Given the description of an element on the screen output the (x, y) to click on. 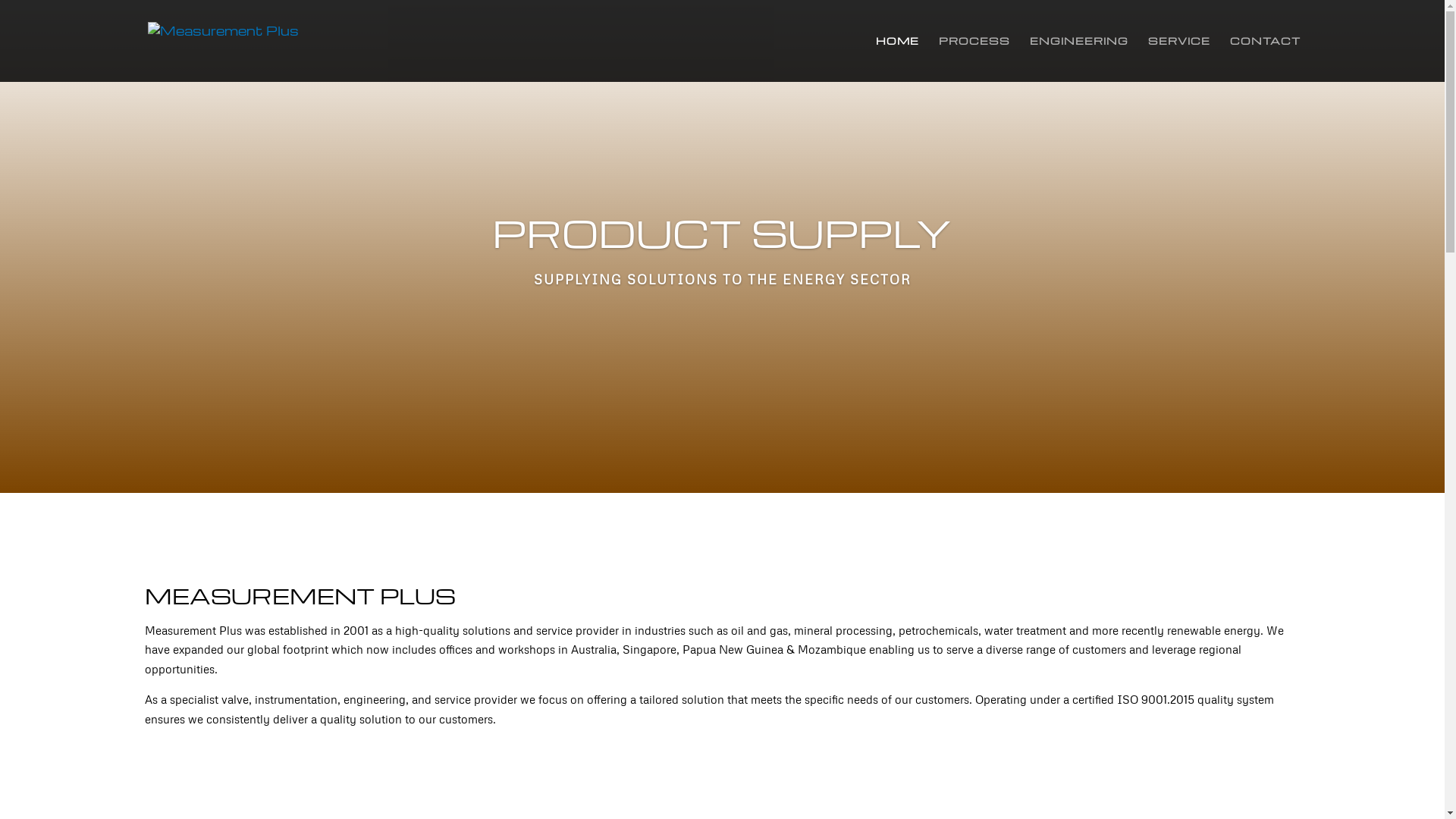
CONTACT Element type: text (1265, 58)
HOME Element type: text (896, 58)
ENGINEERING Element type: text (1078, 58)
PROCESS Element type: text (974, 58)
SERVICE Element type: text (1179, 58)
